Given the description of an element on the screen output the (x, y) to click on. 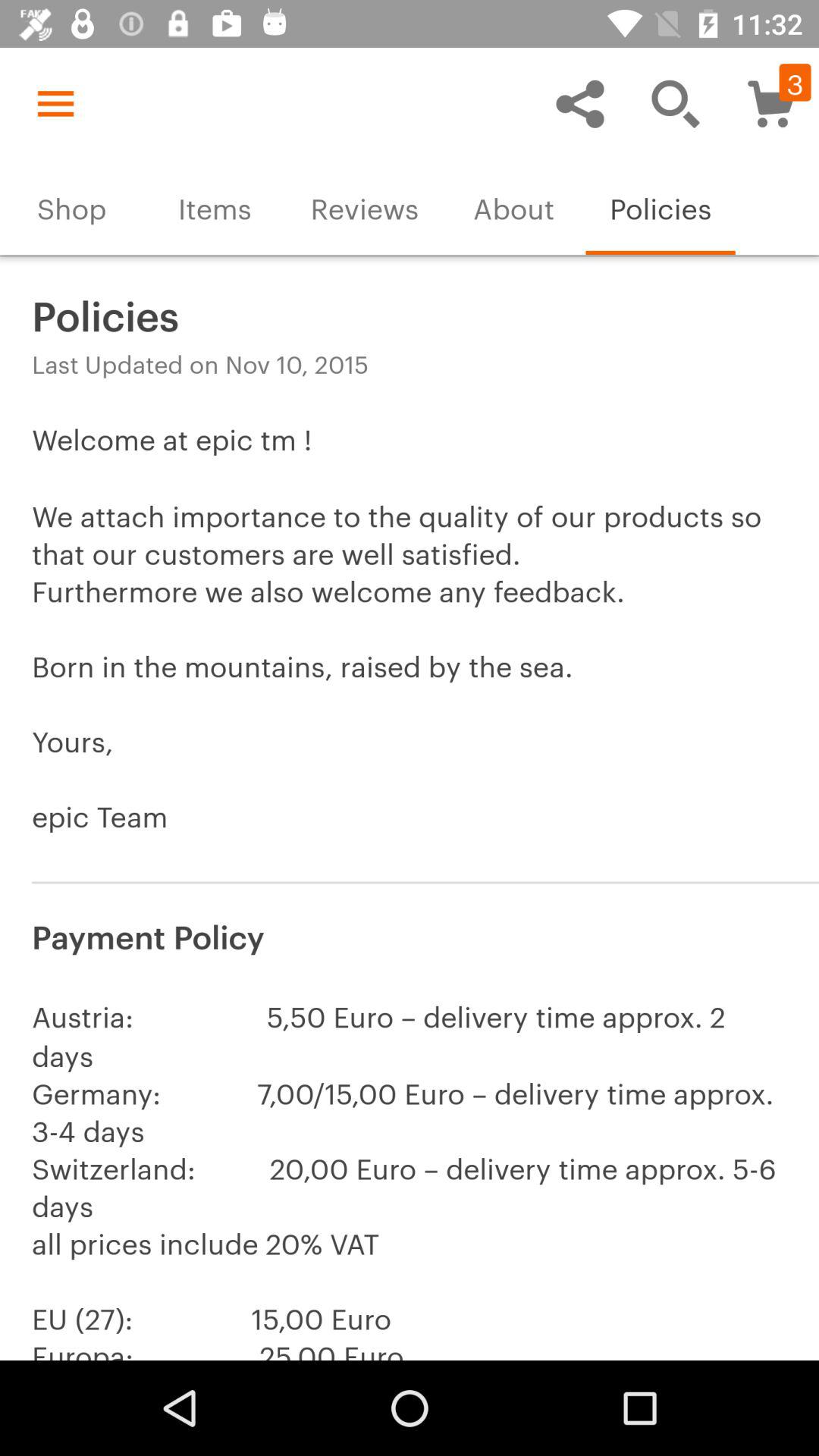
select item above the austria 5 50 icon (409, 934)
